Given the description of an element on the screen output the (x, y) to click on. 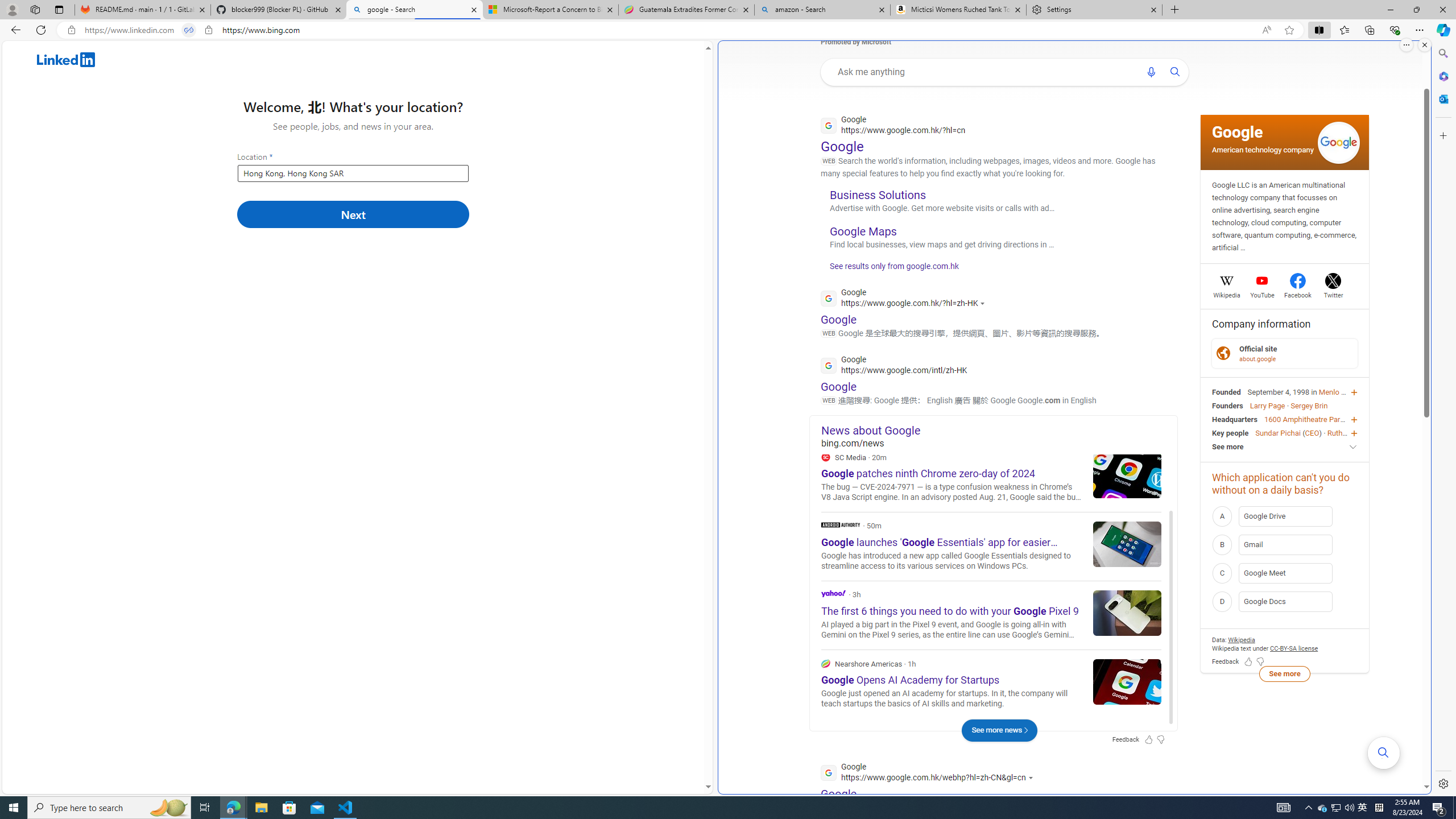
Sundar Pichai (1277, 432)
Google patches ninth Chrome zero-day of 2024 (1127, 474)
Google Opens AI Academy for Startups (1127, 681)
More options. (1406, 45)
Close split screen. (1424, 45)
C Google Meet (1283, 572)
Class: sp-ofsite (1223, 353)
Menlo Park (1336, 391)
D Google Docs (1283, 601)
AutomationID: mfa_root (1383, 752)
